Given the description of an element on the screen output the (x, y) to click on. 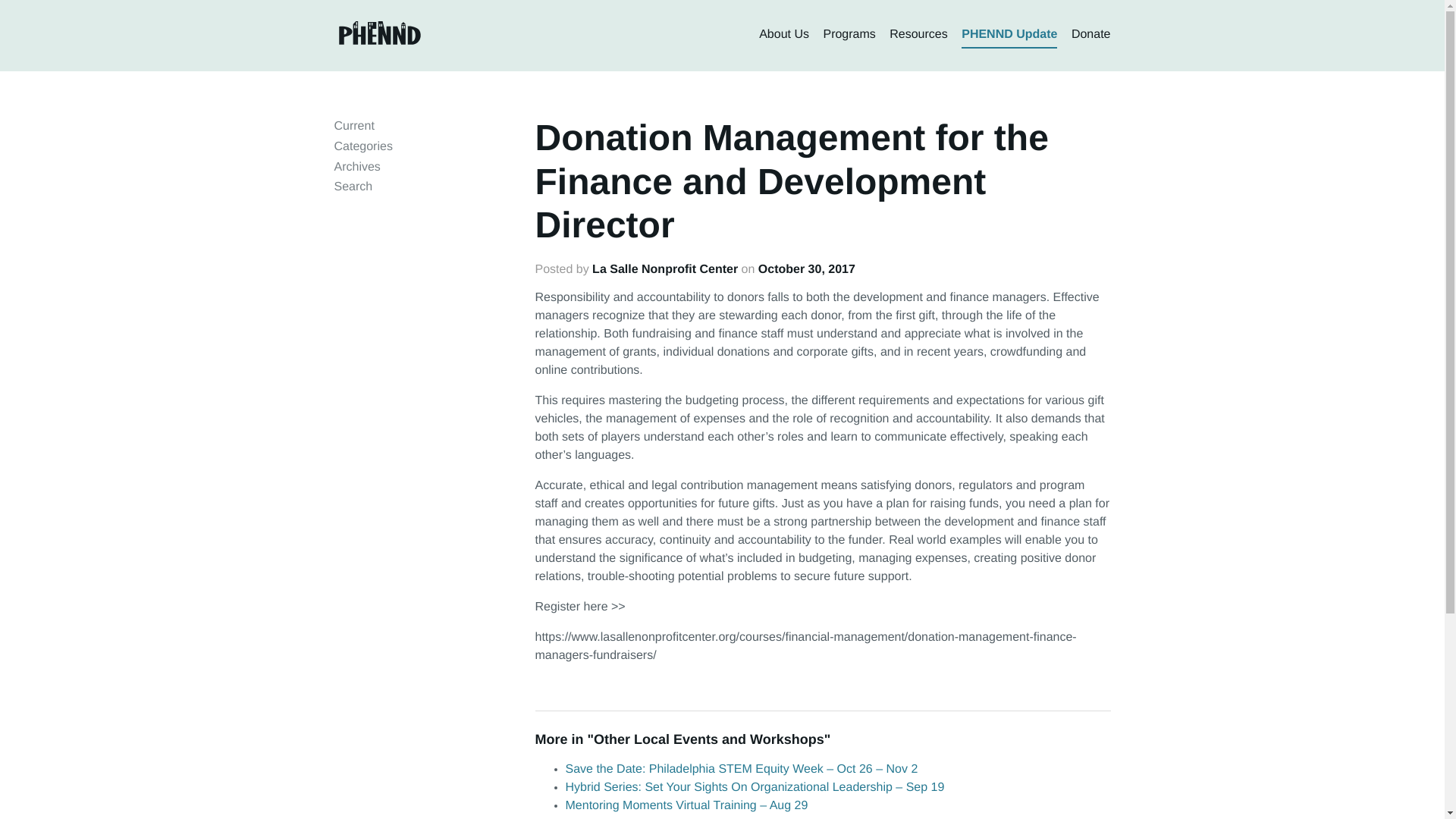
Programs (848, 34)
PHENND Update (1008, 35)
Other Local Events and Workshops (709, 739)
Categories (362, 146)
Donate (1090, 34)
La Salle Nonprofit Center (665, 269)
Search (352, 186)
Current (353, 125)
October 30, 2017 (807, 269)
About Us (783, 34)
Archives (356, 166)
Resources (918, 34)
